Given the description of an element on the screen output the (x, y) to click on. 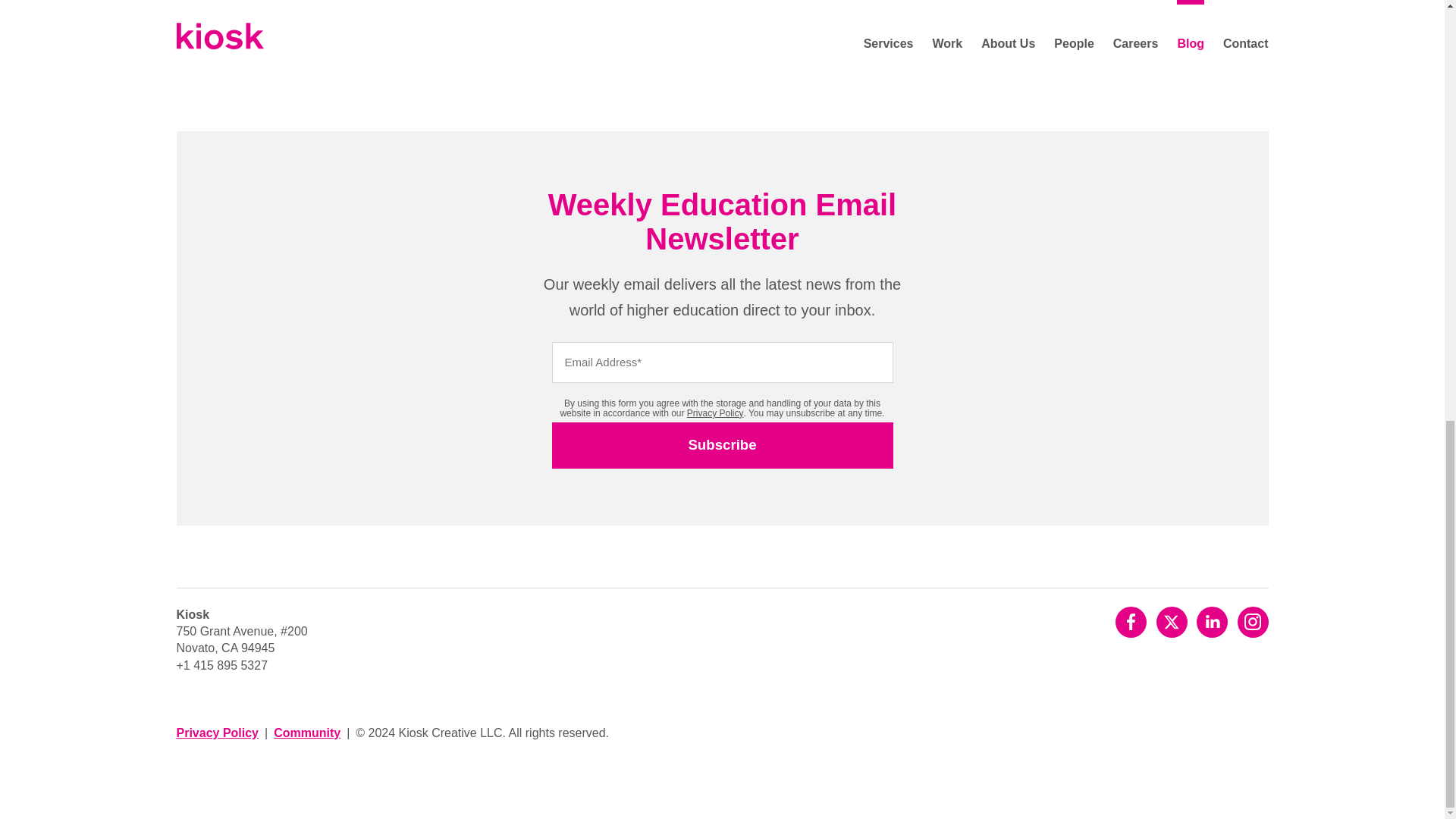
Community (306, 732)
Privacy Policy (715, 412)
Back to All Education Posts (443, 10)
Privacy Policy (217, 732)
Subscribe (722, 445)
Subscribe (722, 445)
